Given the description of an element on the screen output the (x, y) to click on. 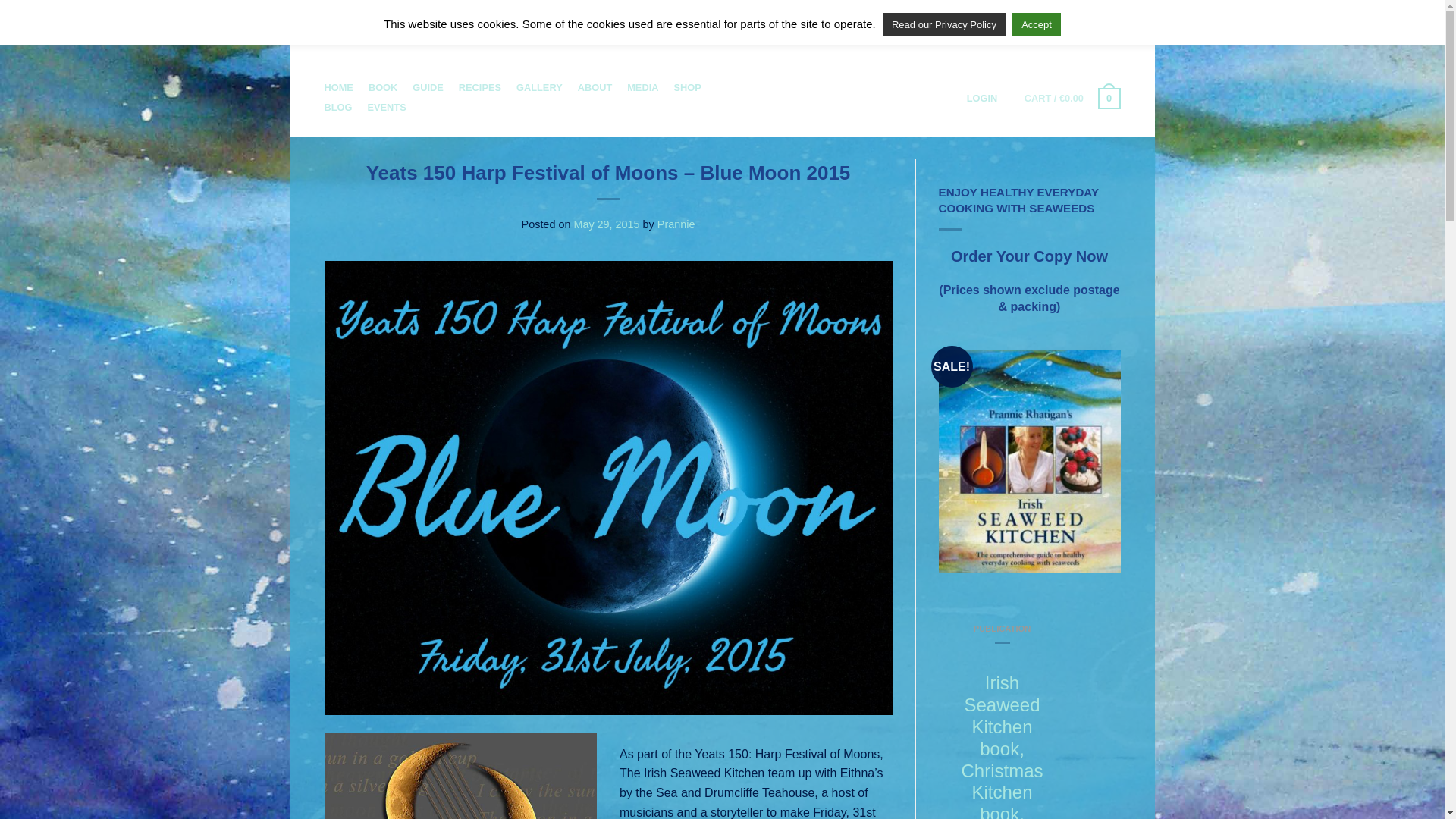
Prannie (676, 224)
RECIPES (479, 87)
HOME (338, 87)
ABOUT (595, 87)
EVENTS (386, 107)
GUIDE (428, 87)
GALLERY (539, 87)
May 29, 2015 (606, 224)
MEDIA (642, 87)
SHOP (686, 87)
BLOG (338, 107)
LOGIN (981, 98)
BOOK (382, 87)
